Given the description of an element on the screen output the (x, y) to click on. 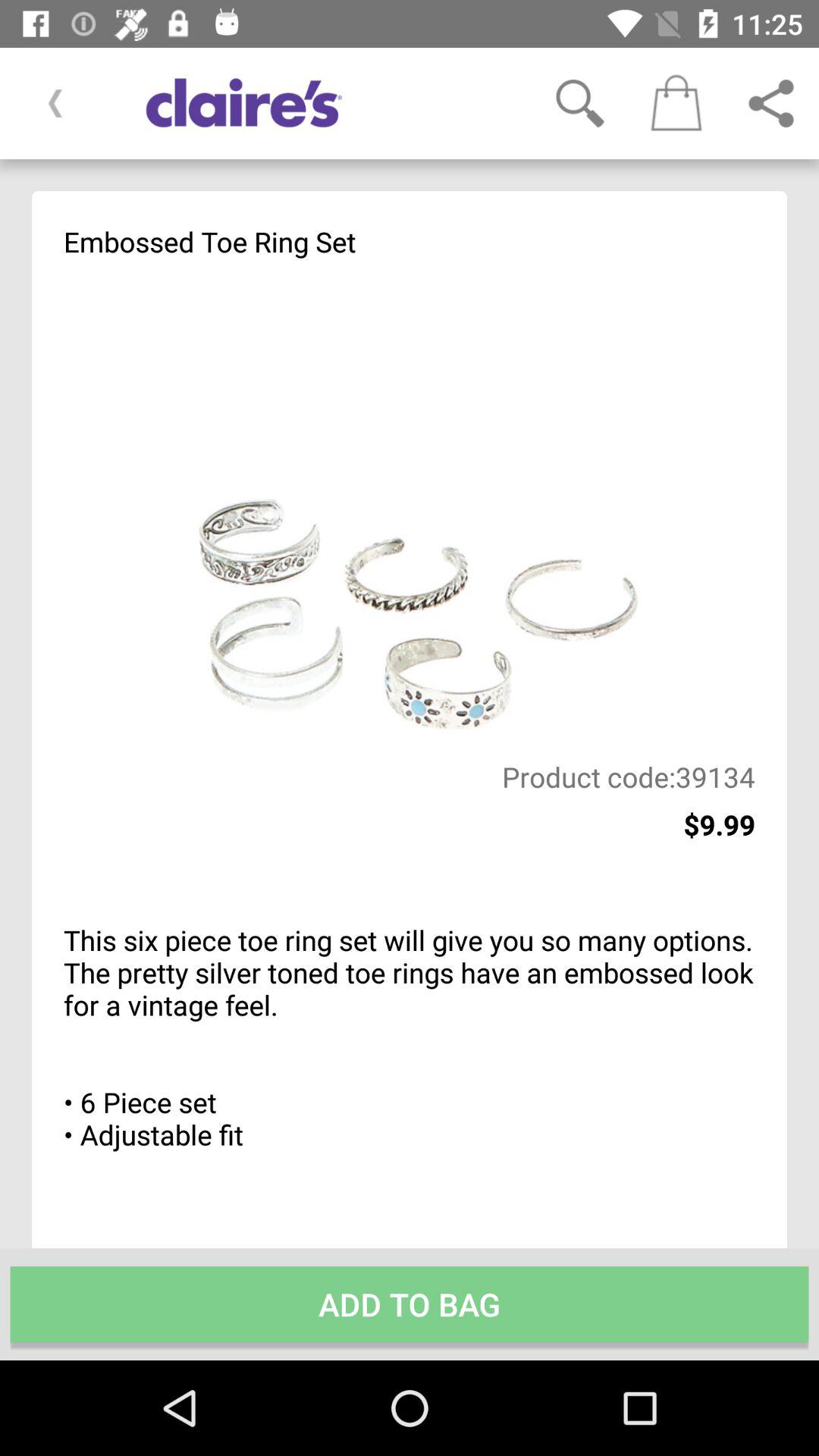
go to claires (321, 103)
click on embossed toe ring set image (409, 509)
click on add to bag button (409, 1304)
